Given the description of an element on the screen output the (x, y) to click on. 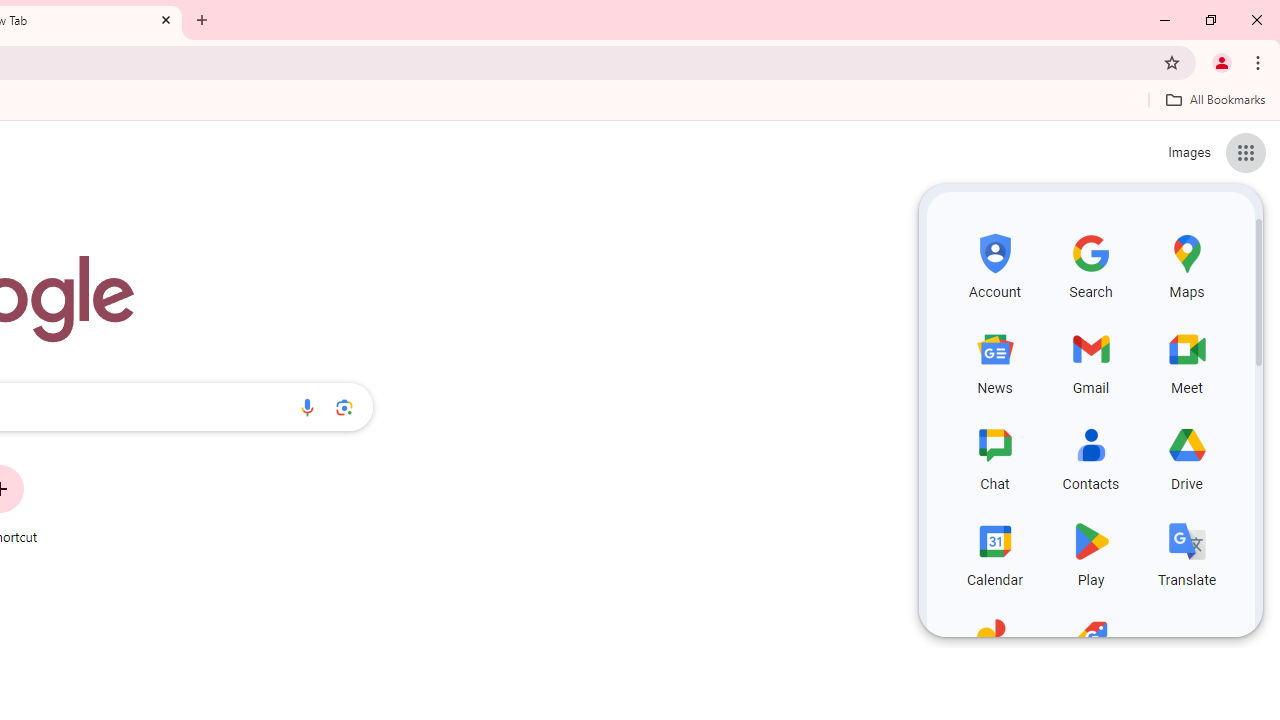
Contacts, row 3 of 5 and column 2 of 3 in the first section (1090, 455)
Play, row 4 of 5 and column 2 of 3 in the first section (1090, 551)
Calendar, row 4 of 5 and column 1 of 3 in the first section (994, 551)
Drive, row 3 of 5 and column 3 of 3 in the first section (1186, 455)
Chat, row 3 of 5 and column 1 of 3 in the first section (994, 455)
Photos, row 5 of 5 and column 1 of 3 in the first section (994, 647)
Gmail, row 2 of 5 and column 2 of 3 in the first section (1090, 359)
